Given the description of an element on the screen output the (x, y) to click on. 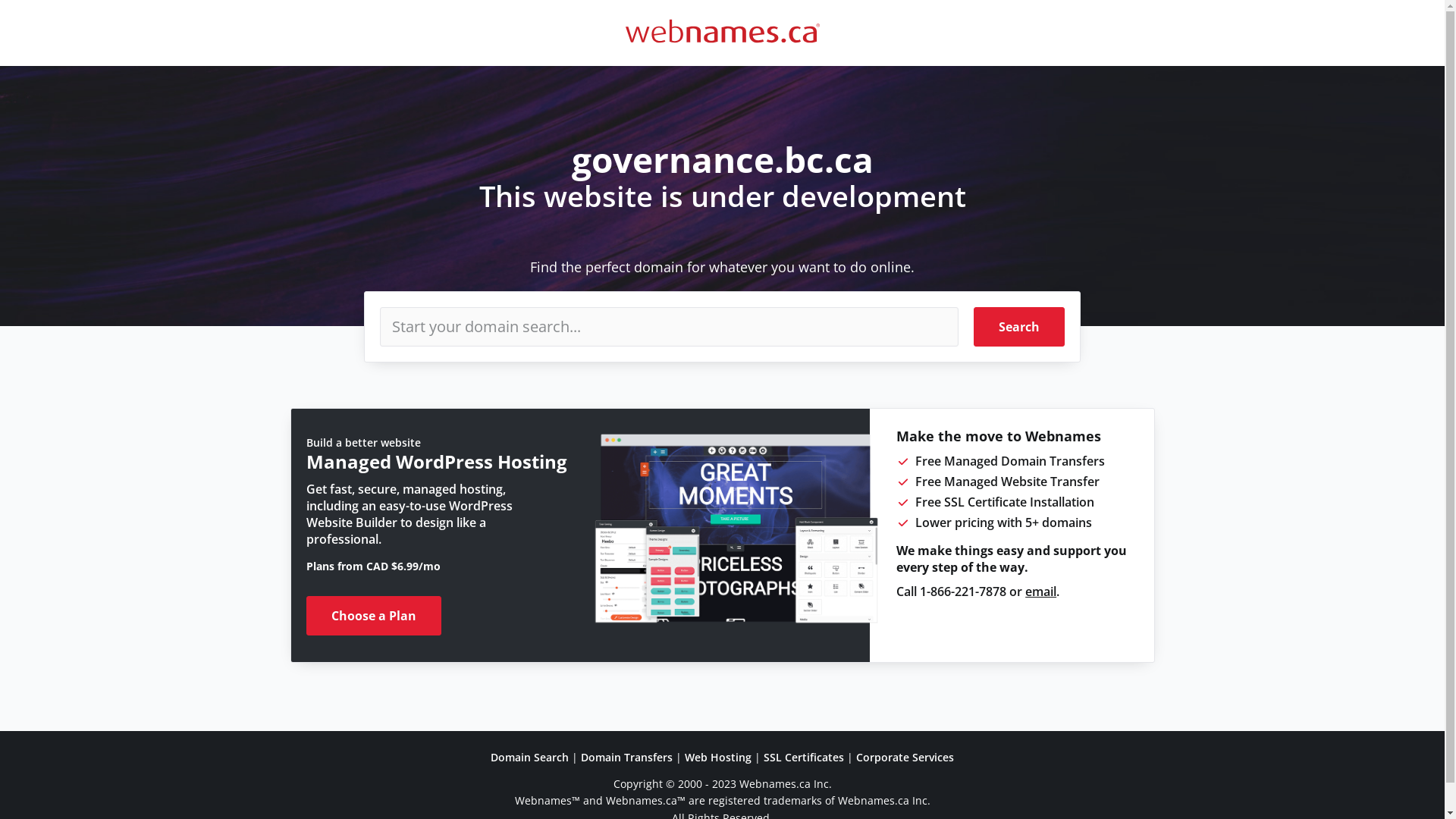
1-866-221-7878 Element type: text (962, 591)
Domain Search Element type: text (529, 756)
Web Hosting Element type: text (717, 756)
Search Element type: text (1018, 326)
Domain Transfers Element type: text (626, 756)
Corporate Services Element type: text (904, 756)
Choose a Plan Element type: text (373, 615)
SSL Certificates Element type: text (803, 756)
email Element type: text (1040, 591)
